Given the description of an element on the screen output the (x, y) to click on. 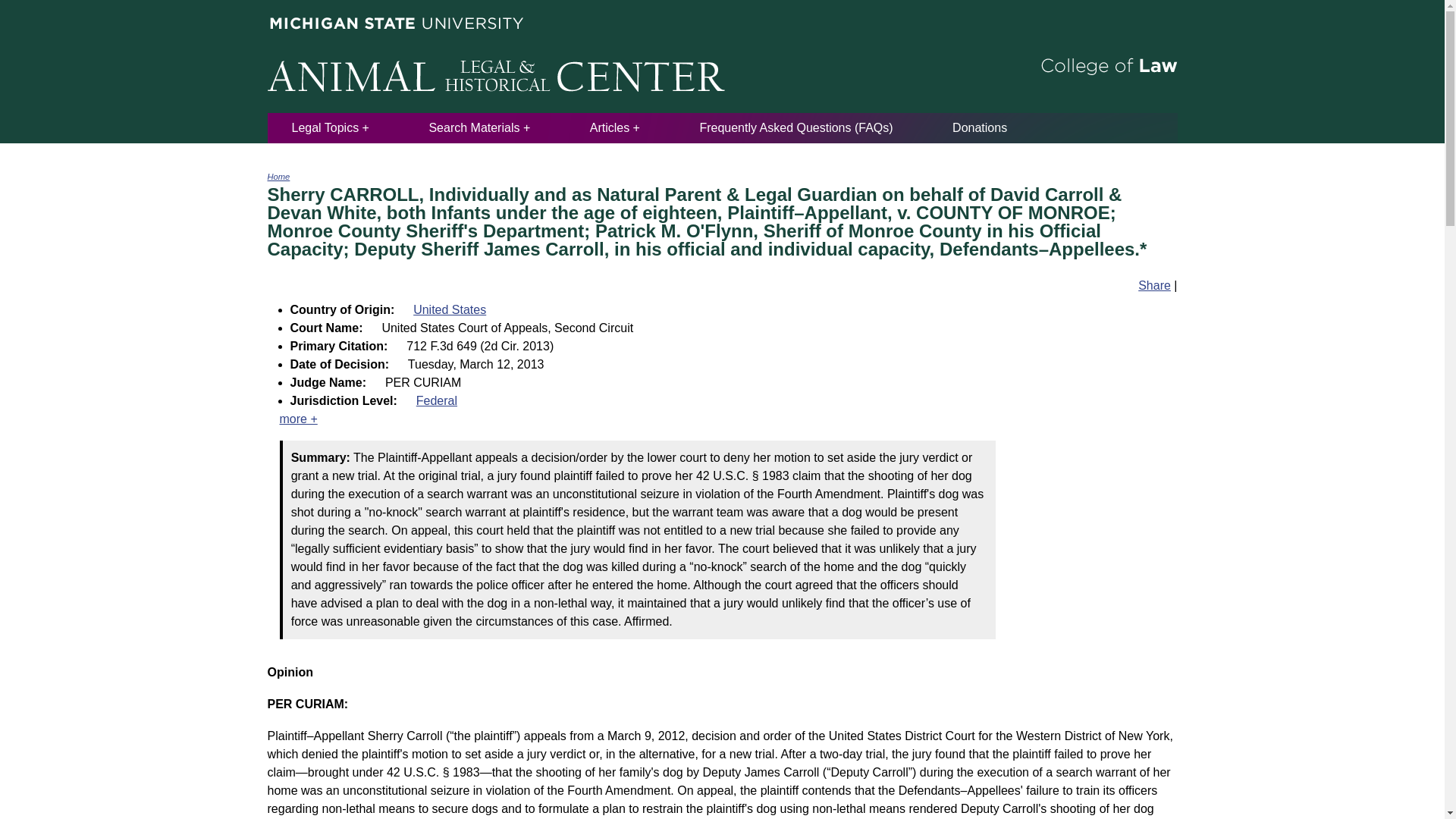
Articles (615, 127)
Legal Topics (330, 127)
United States (449, 309)
Home (277, 175)
Donations (979, 127)
Share (1154, 285)
Search Materials (479, 127)
Federal (436, 400)
